Given the description of an element on the screen output the (x, y) to click on. 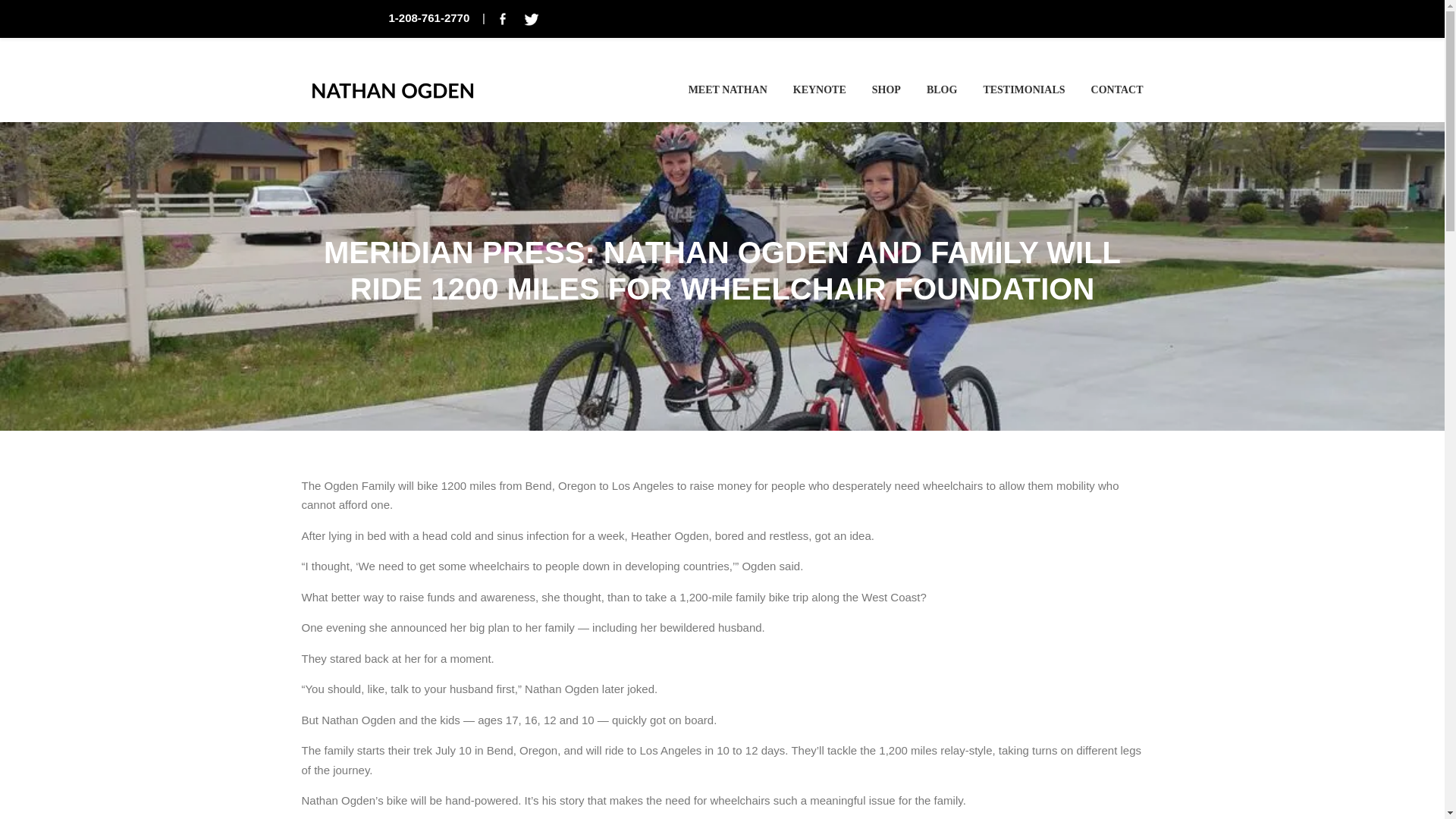
MEET NATHAN (727, 89)
TESTIMONIALS (1023, 89)
CONTACT (1110, 89)
1-208-761-2770 (428, 17)
KEYNOTE (819, 89)
